Given the description of an element on the screen output the (x, y) to click on. 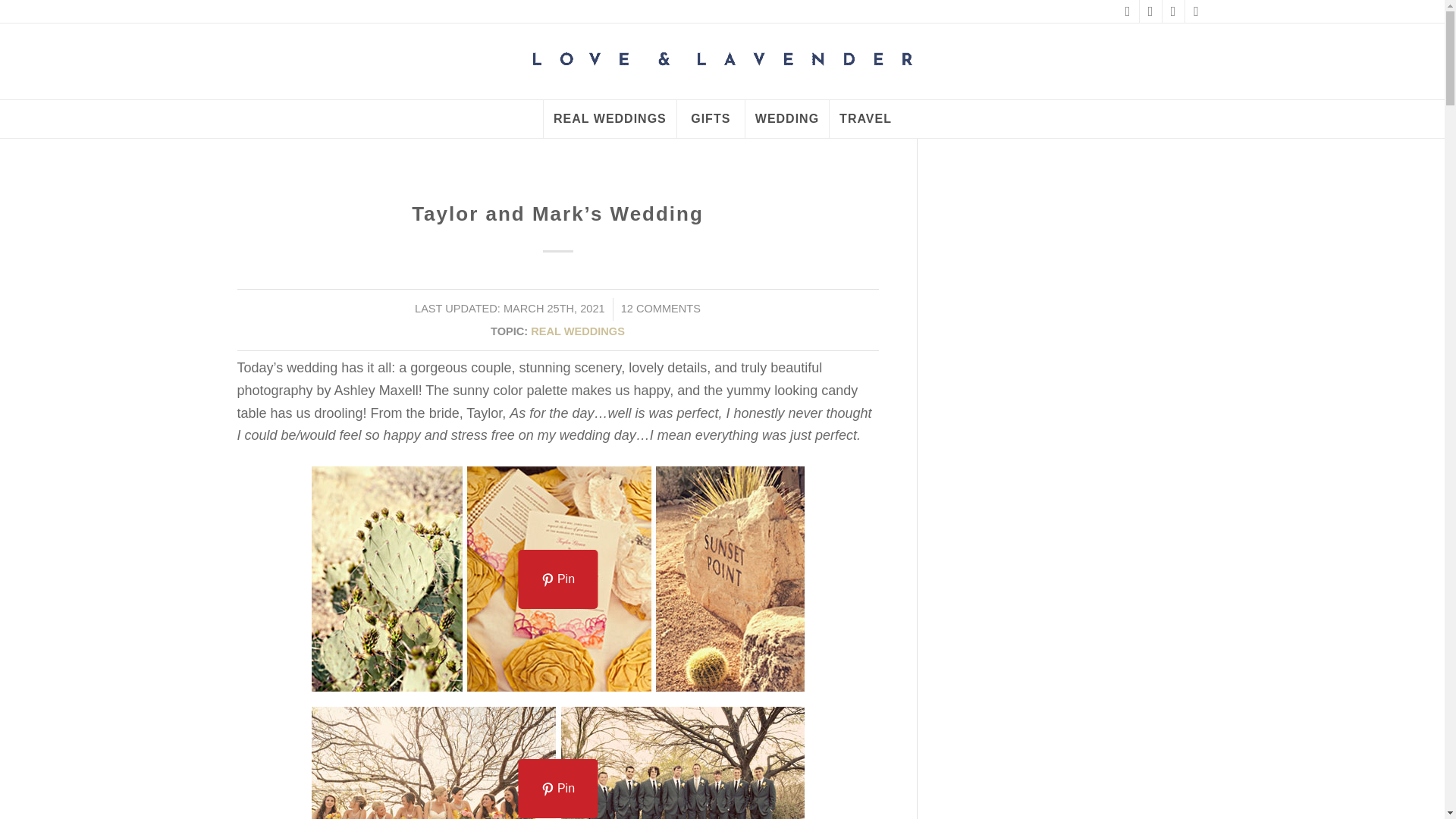
WEDDING (786, 118)
tm11 (557, 578)
tm12 (557, 762)
REAL WEDDINGS (610, 118)
REAL WEDDINGS (577, 331)
Pinterest (1149, 11)
TRAVEL (864, 118)
GIFTS (710, 118)
Twitter (1172, 11)
Facebook (1127, 11)
